Given the description of an element on the screen output the (x, y) to click on. 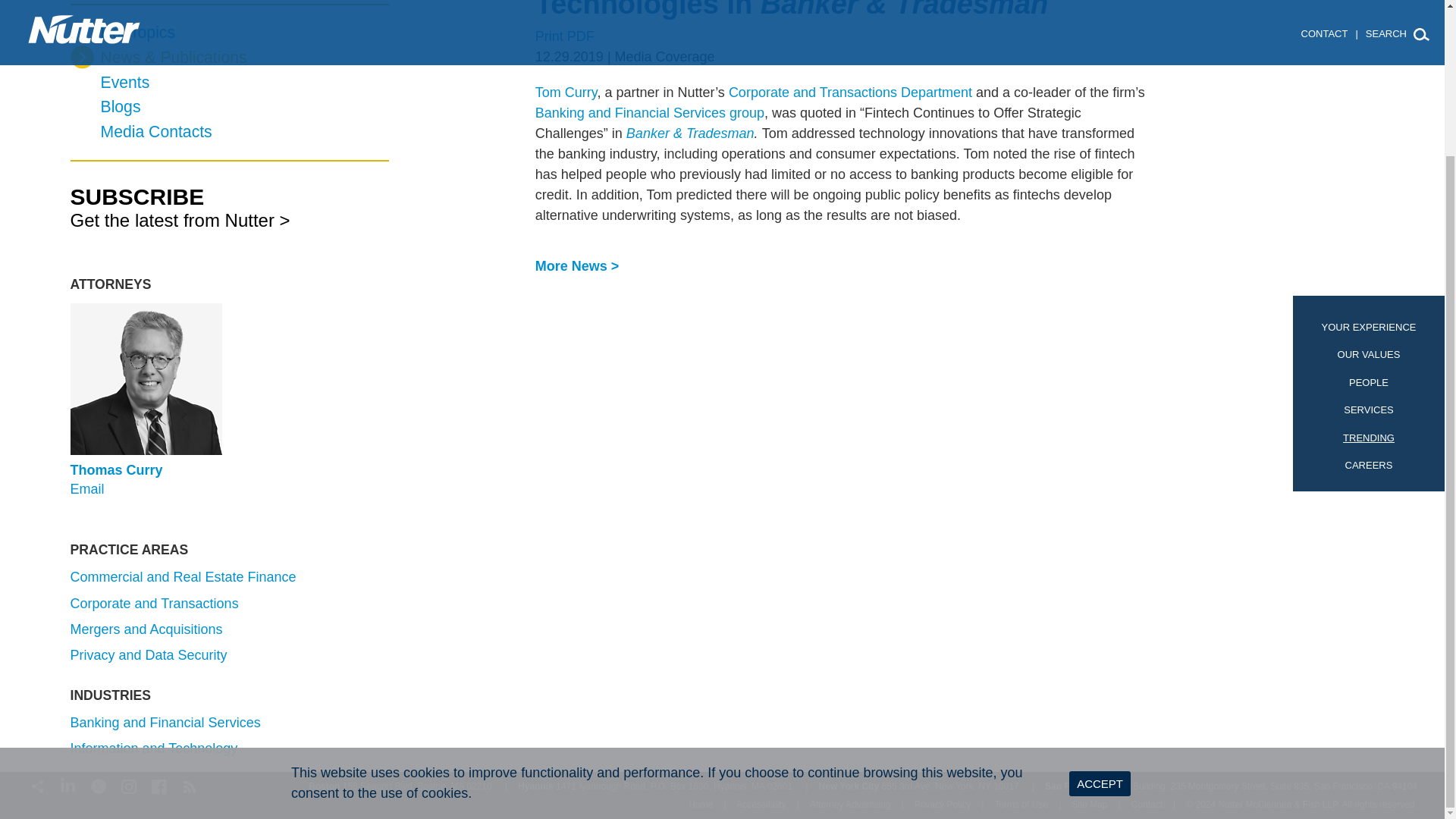
Twitter (98, 784)
Thomas Curry (115, 469)
Tom Curry (565, 92)
Corporate and Transactions (153, 603)
Instagram (128, 784)
ACCEPT (1099, 600)
Privacy and Data Security (148, 654)
LinkedIn (68, 784)
Share (37, 784)
RSS (189, 784)
